Given the description of an element on the screen output the (x, y) to click on. 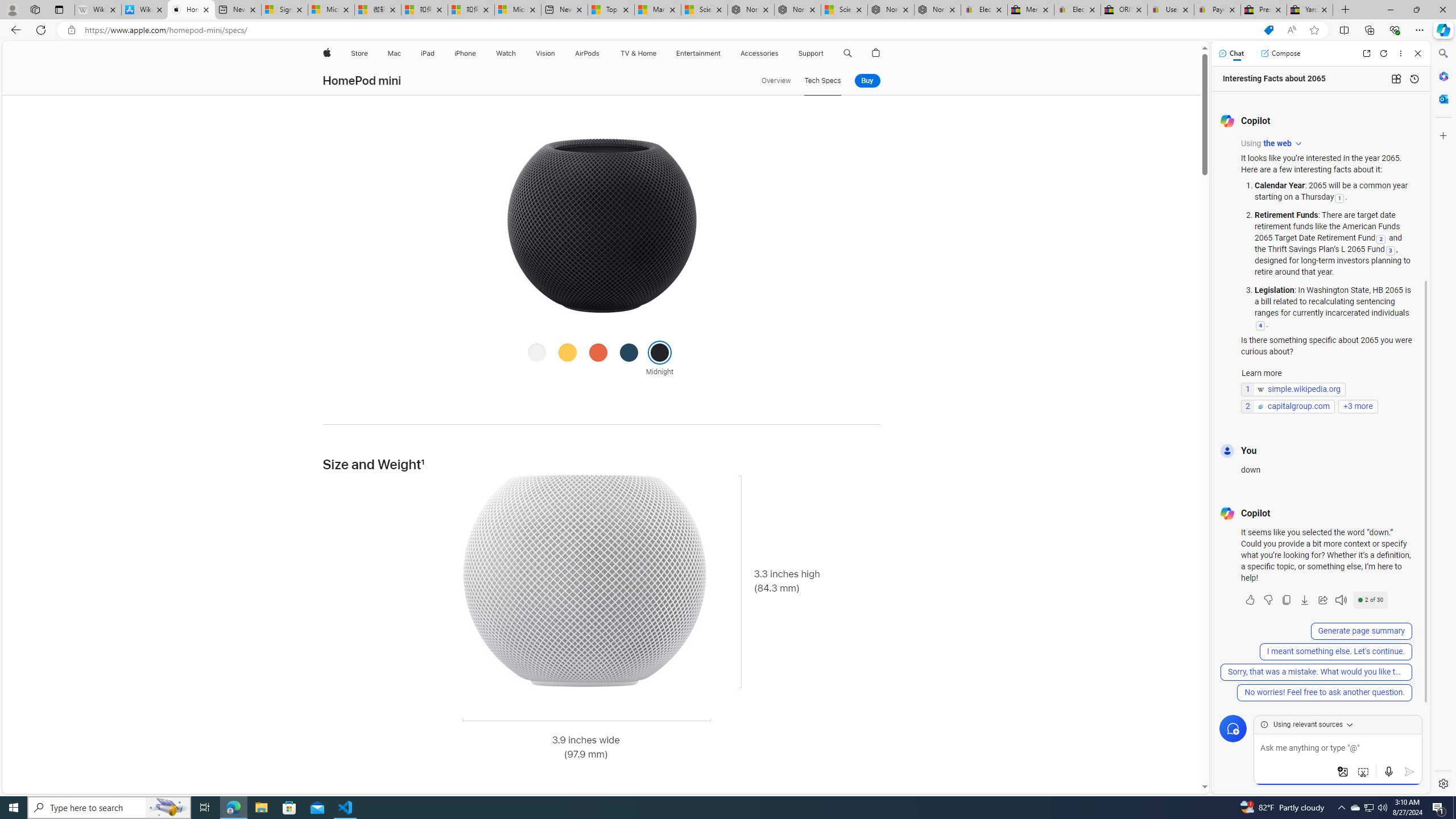
Mac (394, 53)
Blue (628, 351)
HomePod mini - Technical Specifications - Apple (191, 9)
HomePod mini (361, 80)
Search apple.com (847, 53)
Watch menu (518, 53)
Nordace - FAQ (937, 9)
Tech Specs (822, 80)
Support menu (825, 53)
